Given the description of an element on the screen output the (x, y) to click on. 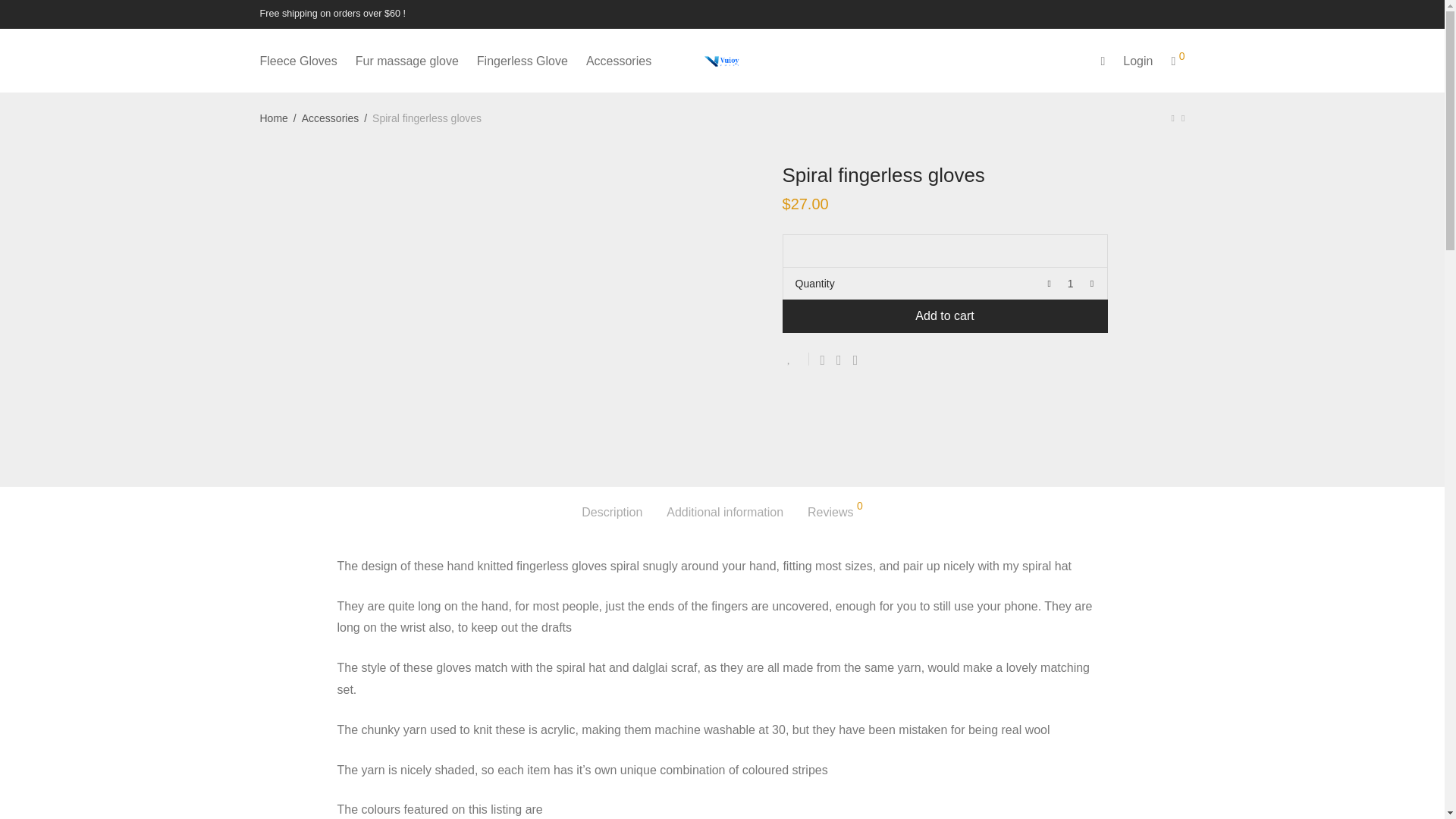
Add to cart (945, 315)
Fingerless Glove (521, 61)
Login (1137, 61)
Fleece Gloves (298, 61)
Add to Wishlist (796, 358)
Home (272, 117)
Additional information (724, 512)
Fur massage glove (406, 61)
Description (611, 512)
Reviews 0 (835, 512)
